Given the description of an element on the screen output the (x, y) to click on. 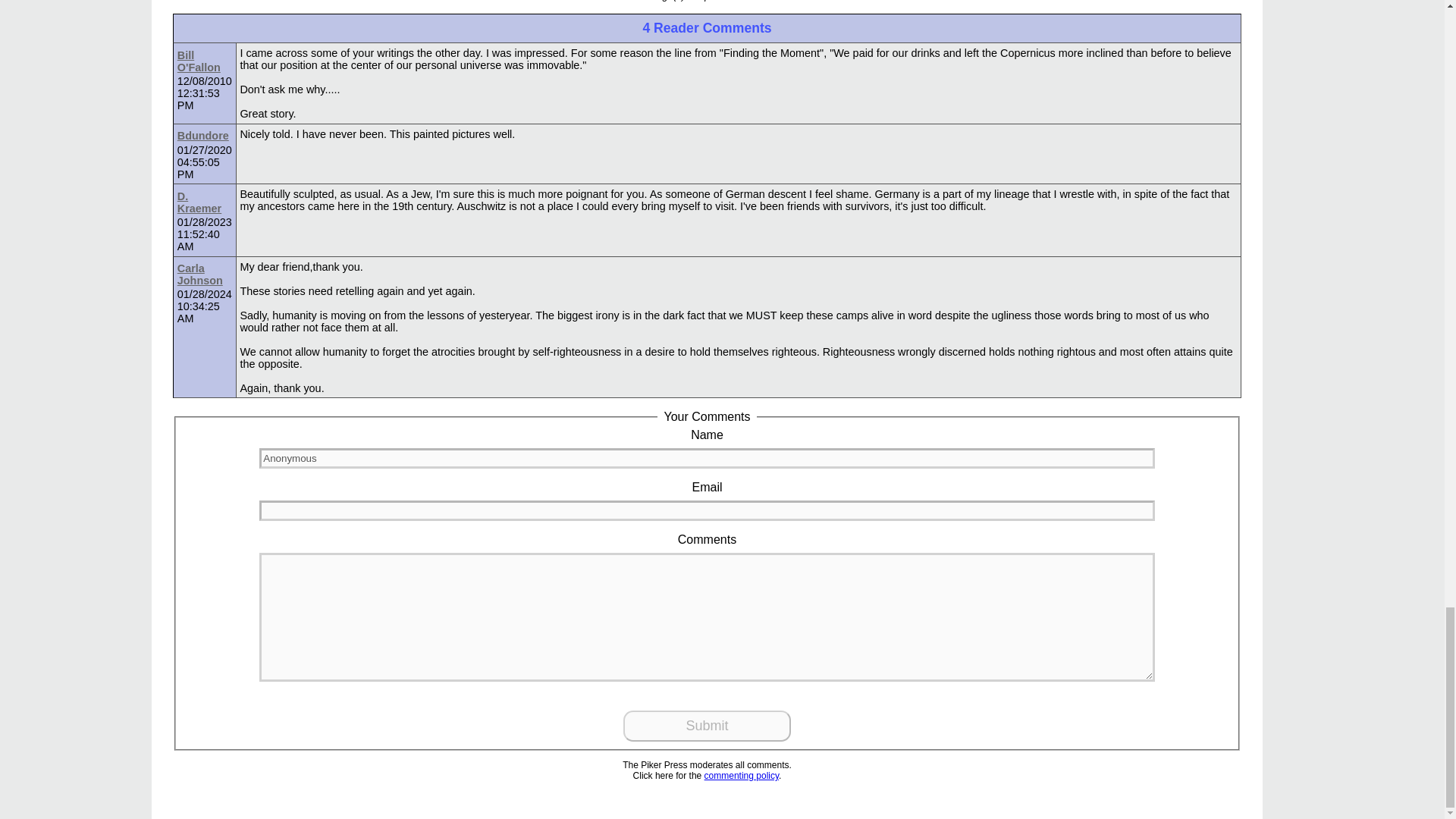
Bill O'Fallon (204, 60)
Submit (706, 726)
Anonymous (706, 457)
D. Kraemer (204, 202)
Bdundore (202, 135)
Submit (706, 726)
Carla Johnson (204, 275)
commenting policy (741, 775)
